Given the description of an element on the screen output the (x, y) to click on. 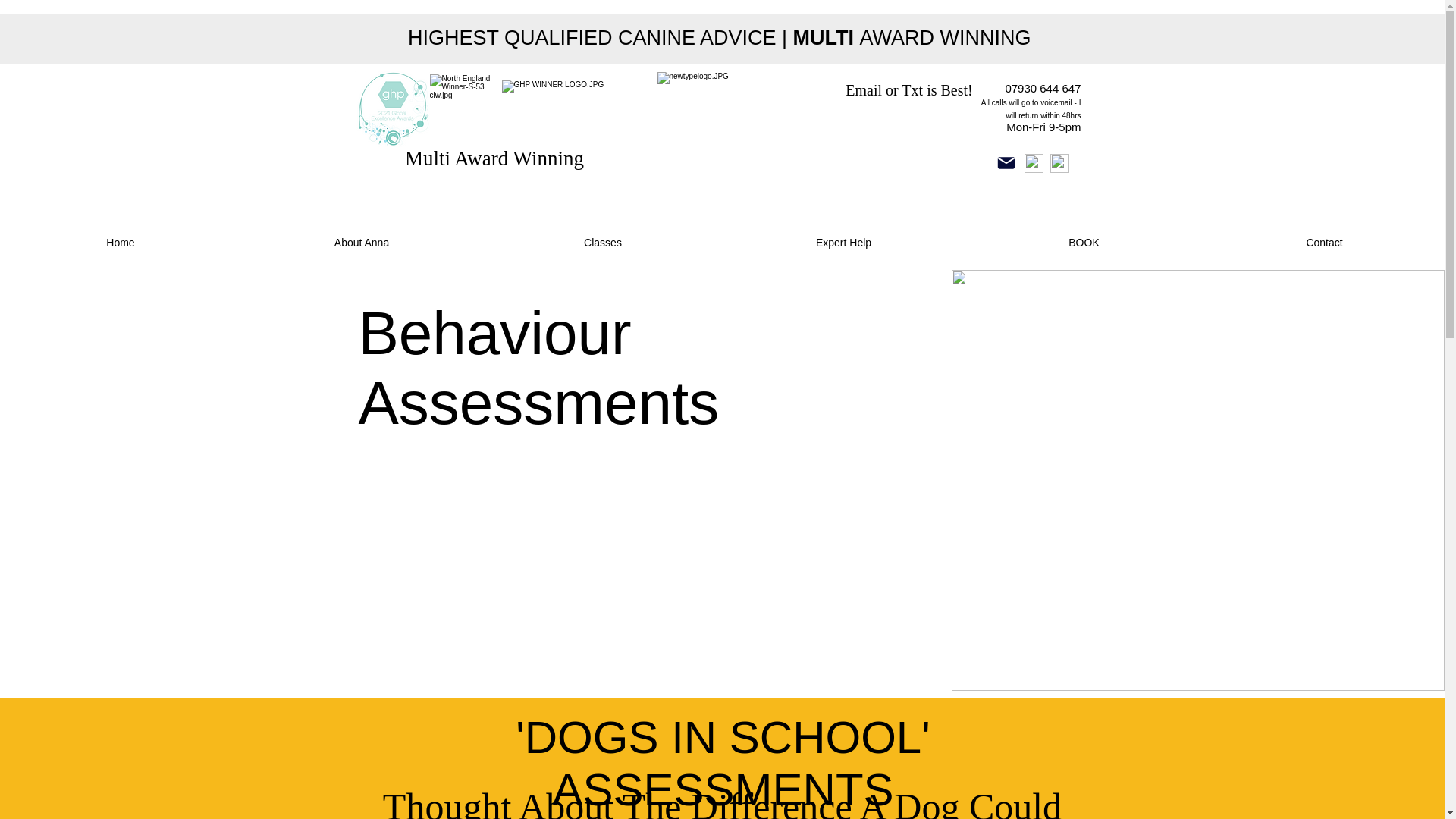
About Anna (361, 242)
Expert Help (843, 242)
Classes (602, 242)
Home (120, 242)
All calls will go to voicemail - I will return within 48hrs (1031, 108)
BOOK (1083, 242)
07930 644 647 (1042, 88)
